Given the description of an element on the screen output the (x, y) to click on. 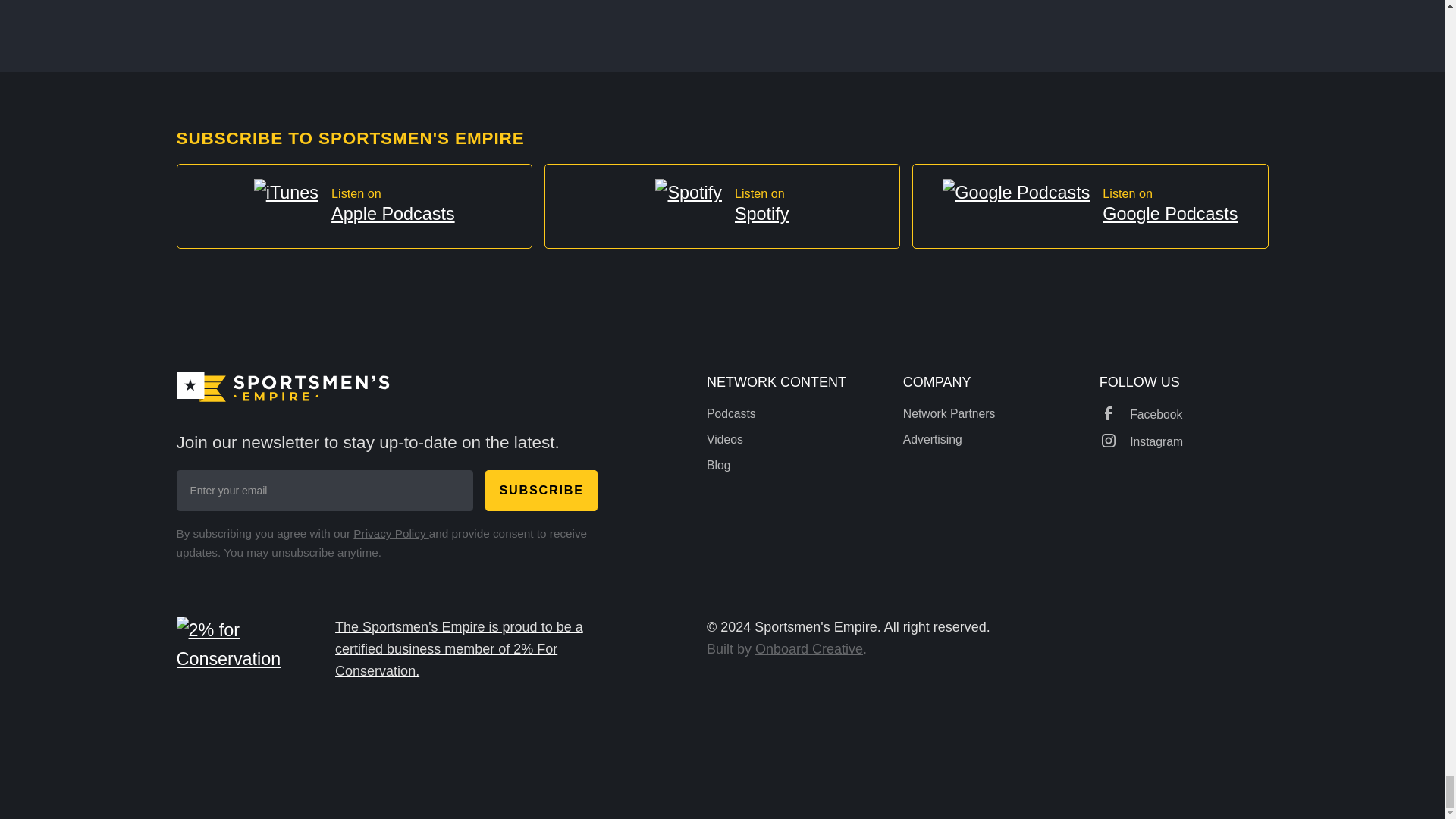
Subscribe (540, 490)
Podcasts (730, 412)
Privacy Policy (353, 205)
Instagram (390, 533)
Onboard Creative (1141, 441)
Blog (809, 648)
Network Partners (1090, 205)
Videos (730, 465)
Advertising (948, 412)
Subscribe (730, 438)
Facebook (948, 438)
